Given the description of an element on the screen output the (x, y) to click on. 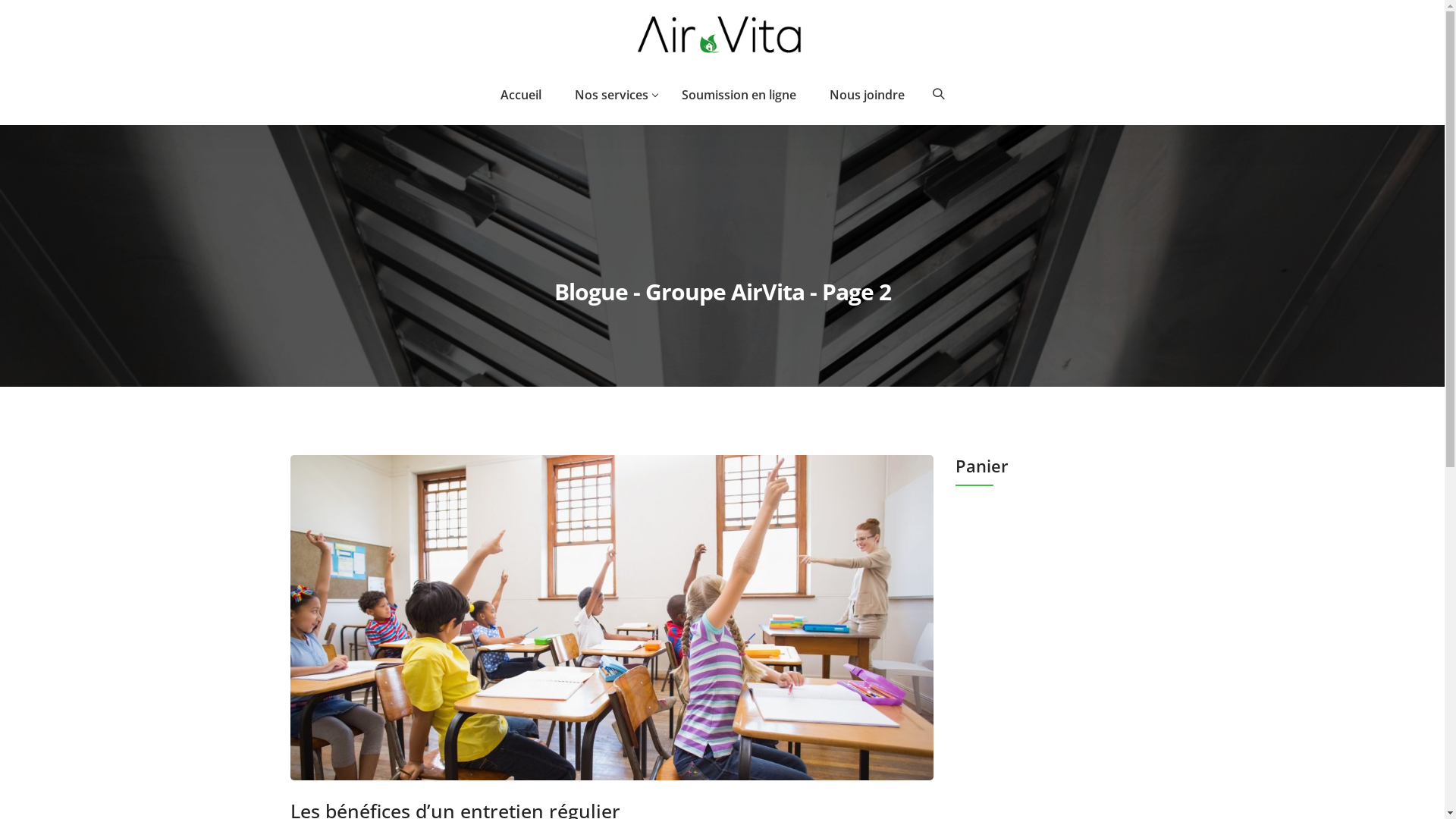
Nos services Element type: text (611, 94)
Soumission en ligne Element type: text (738, 94)
Groupe AirVita Element type: hover (721, 32)
Accueil Element type: text (529, 94)
Nous joindre Element type: text (866, 94)
